Given the description of an element on the screen output the (x, y) to click on. 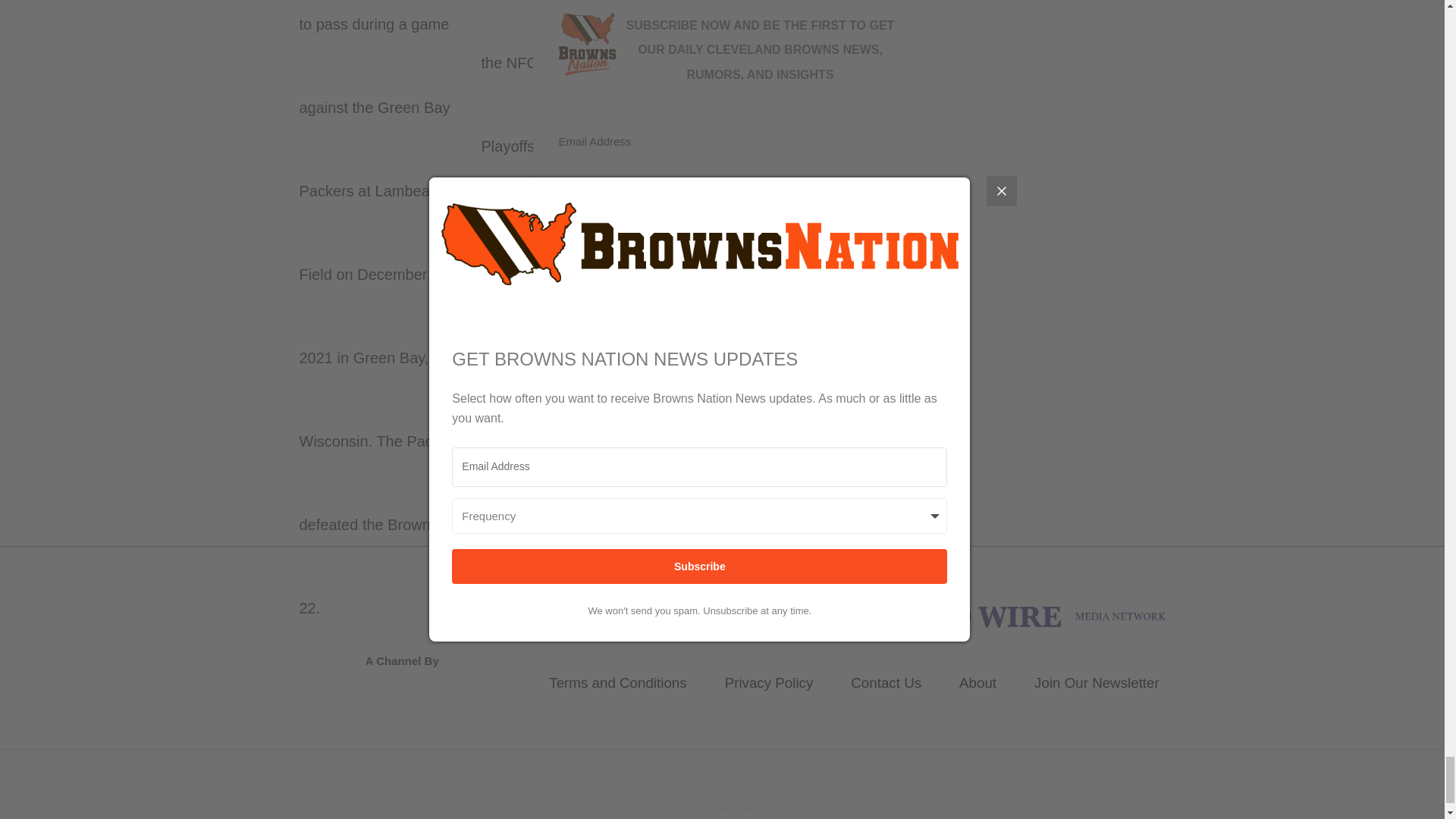
Browns Nation (1022, 614)
